Given the description of an element on the screen output the (x, y) to click on. 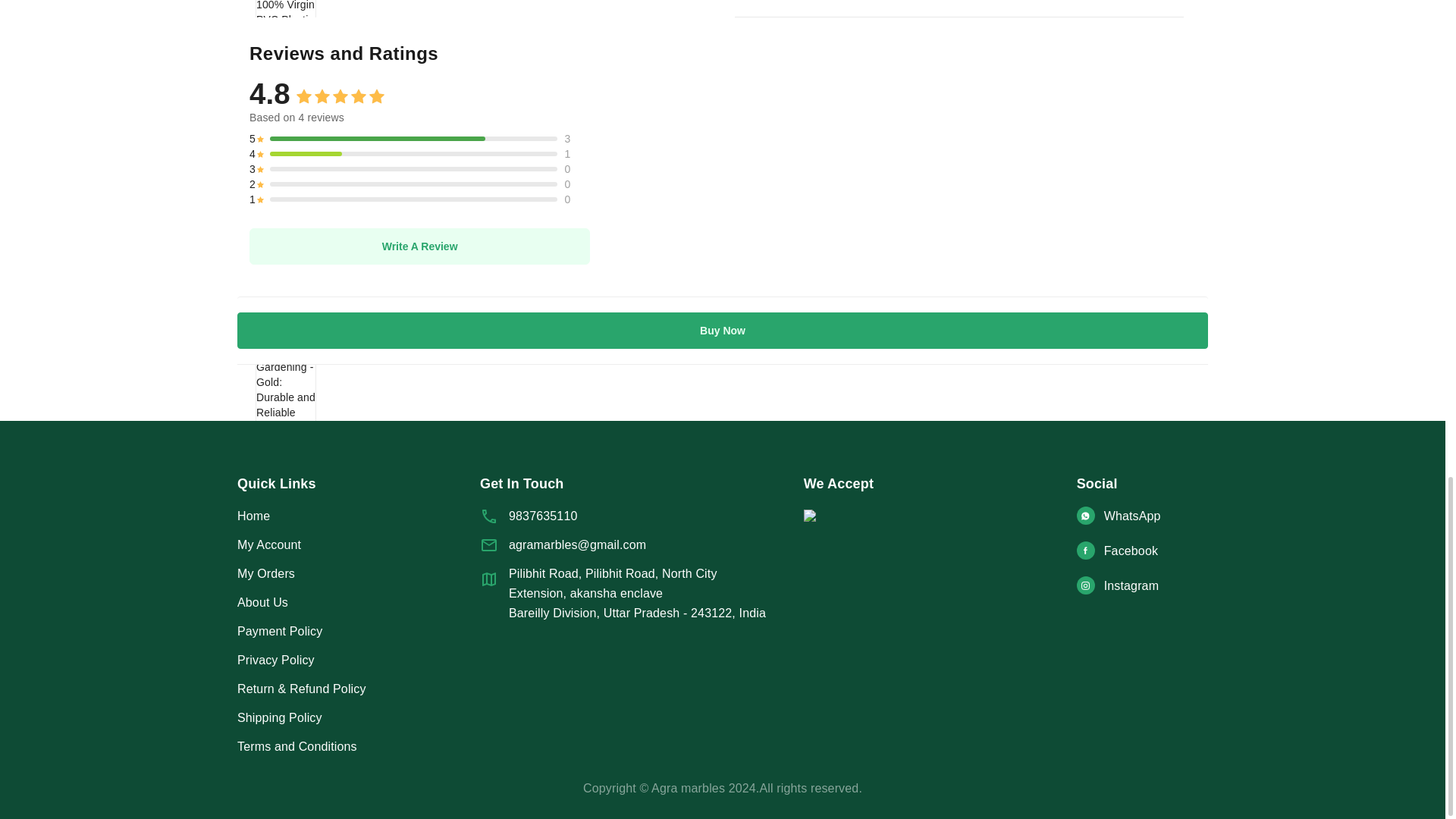
Shipping Policy (358, 718)
Payment Policy (358, 631)
Facebook (1142, 551)
About Us (358, 602)
My Account (358, 545)
My Orders (358, 573)
Buy Now (722, 330)
WhatsApp (1142, 516)
9837635110 (626, 516)
Instagram (1142, 586)
Write A Review (418, 246)
Privacy Policy (358, 660)
Terms and Conditions (358, 746)
Home (358, 516)
